Given the description of an element on the screen output the (x, y) to click on. 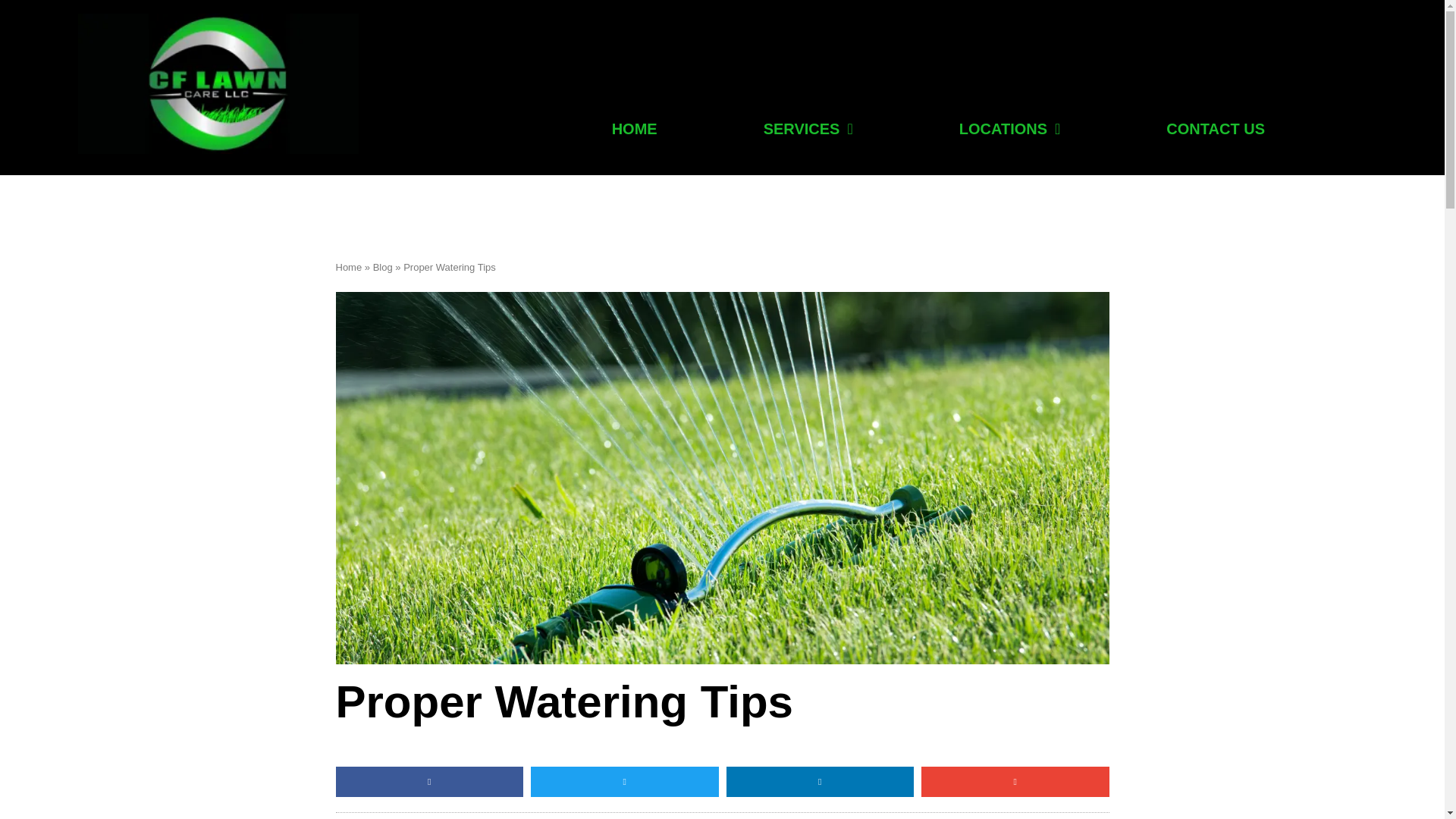
Blog (382, 266)
LOCATIONS (1009, 128)
HOME (634, 128)
CONTACT US (1215, 128)
Home (347, 266)
SERVICES (807, 128)
